Given the description of an element on the screen output the (x, y) to click on. 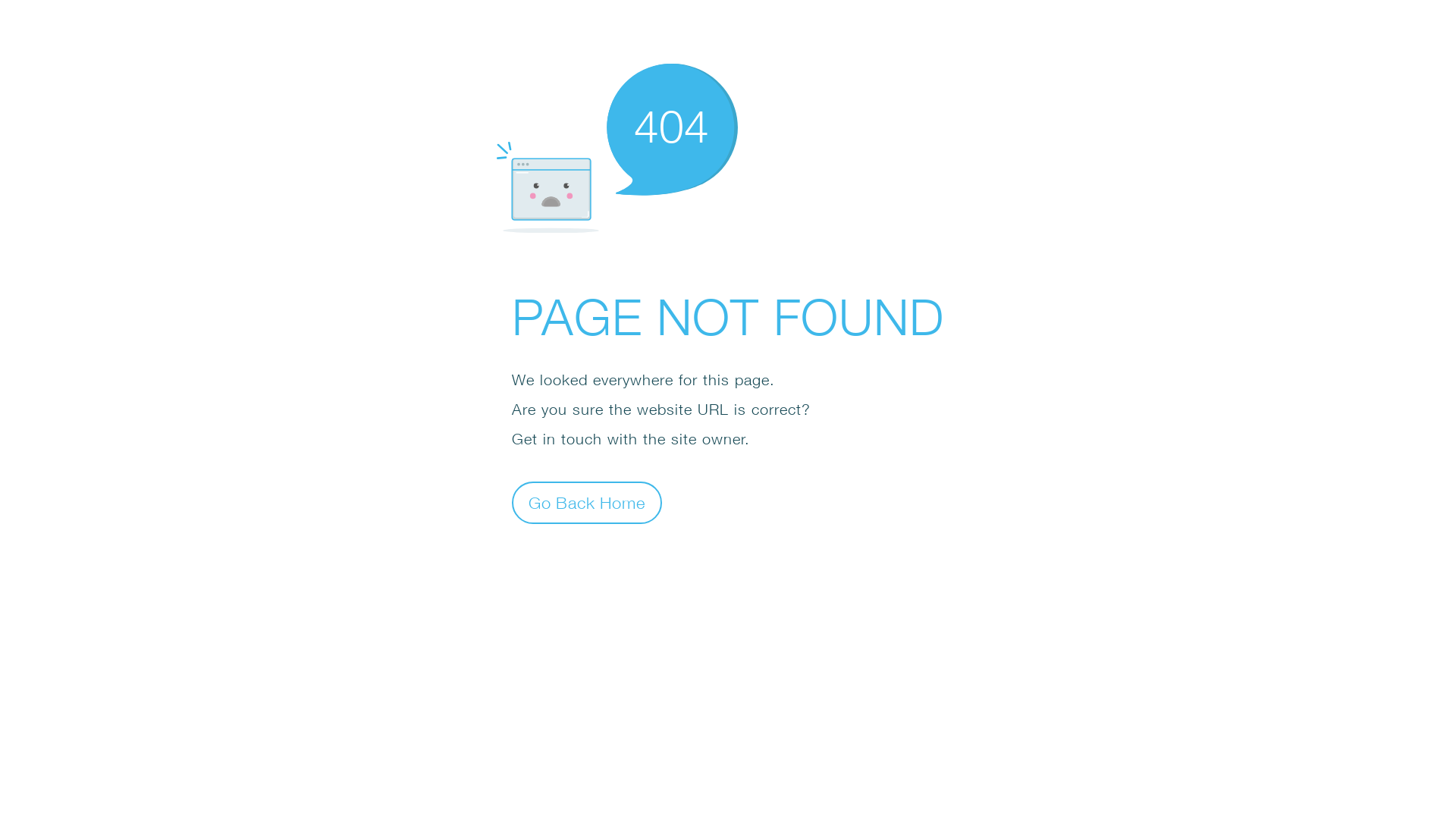
Go Back Home Element type: text (586, 502)
